Given the description of an element on the screen output the (x, y) to click on. 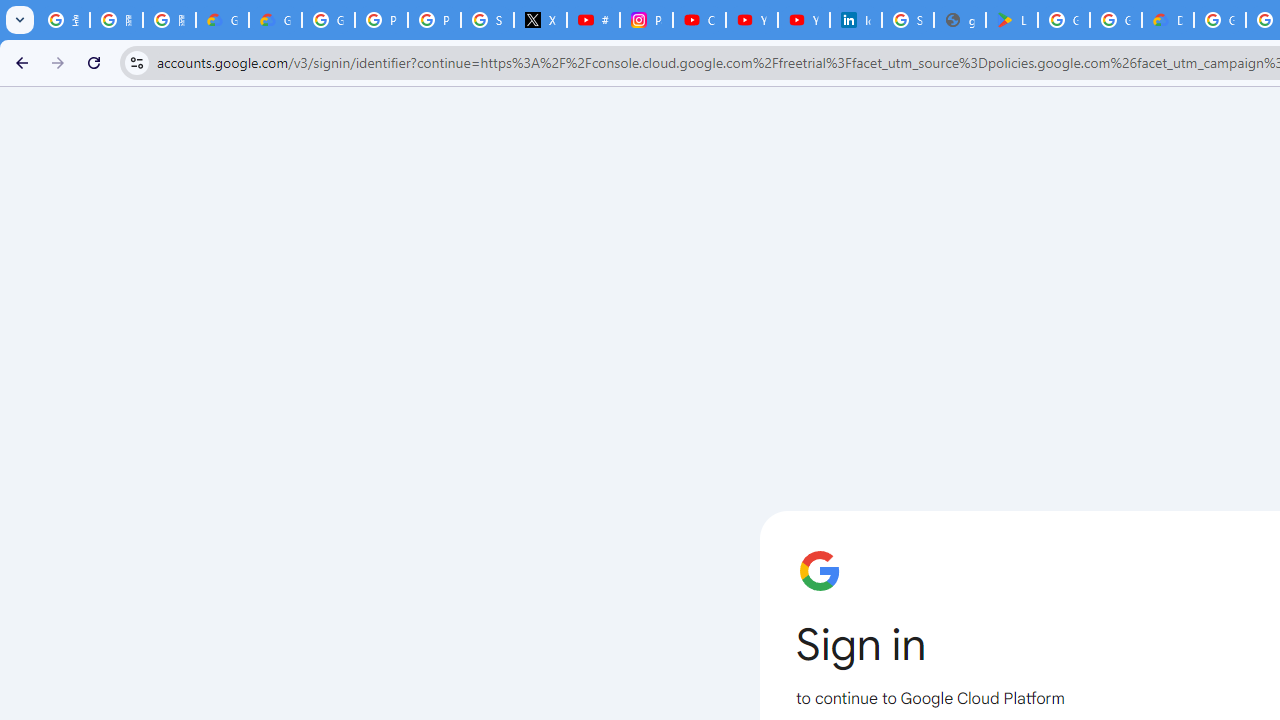
X (540, 20)
Google Cloud Privacy Notice (222, 20)
Privacy Help Center - Policies Help (434, 20)
#nbabasketballhighlights - YouTube (593, 20)
Google Cloud Privacy Notice (275, 20)
